Given the description of an element on the screen output the (x, y) to click on. 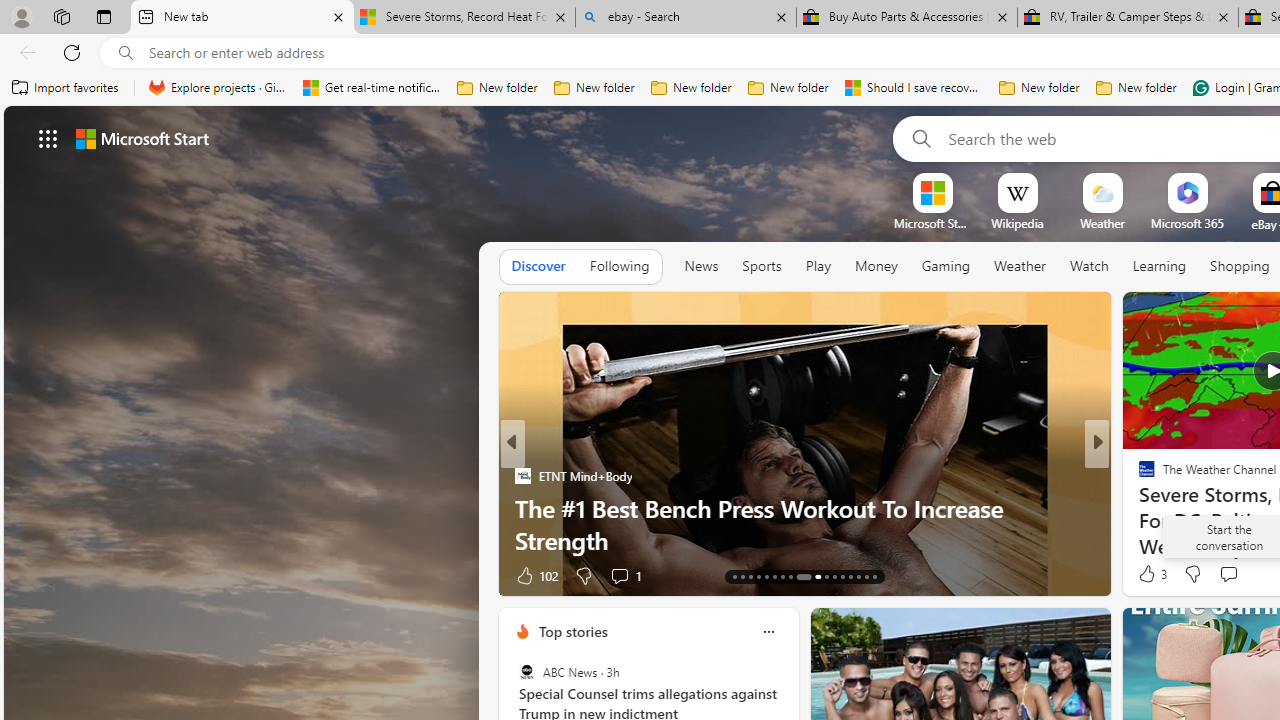
116 Like (1151, 574)
AutomationID: tab-26 (850, 576)
AutomationID: tab-24 (833, 576)
353 Like (1151, 574)
99 Like (1149, 574)
AutomationID: tab-17 (765, 576)
AutomationID: tab-18 (774, 576)
AutomationID: tab-16 (757, 576)
AutomationID: tab-20 (789, 576)
